Given the description of an element on the screen output the (x, y) to click on. 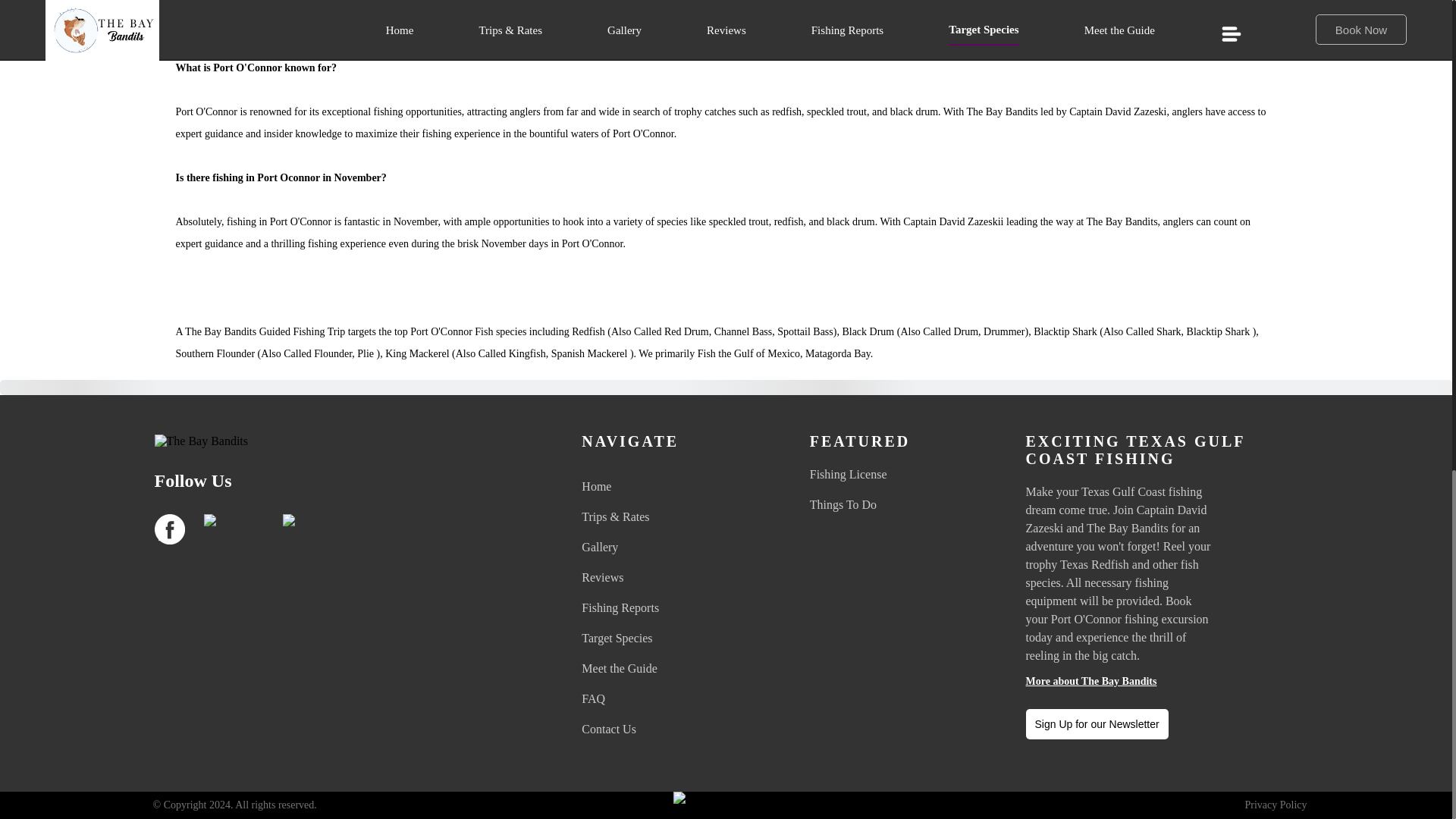
Sign Up for our Newsletter (1096, 724)
More about The Bay Bandits (1161, 681)
FAQ (675, 699)
Things To Do (903, 505)
Privacy Policy (1275, 805)
Gallery (675, 547)
Reviews (675, 577)
Fishing Reports (675, 607)
Meet the Guide (675, 669)
Home (675, 486)
Fishing License (903, 475)
Target Species (675, 638)
Contact Us (675, 729)
